Given the description of an element on the screen output the (x, y) to click on. 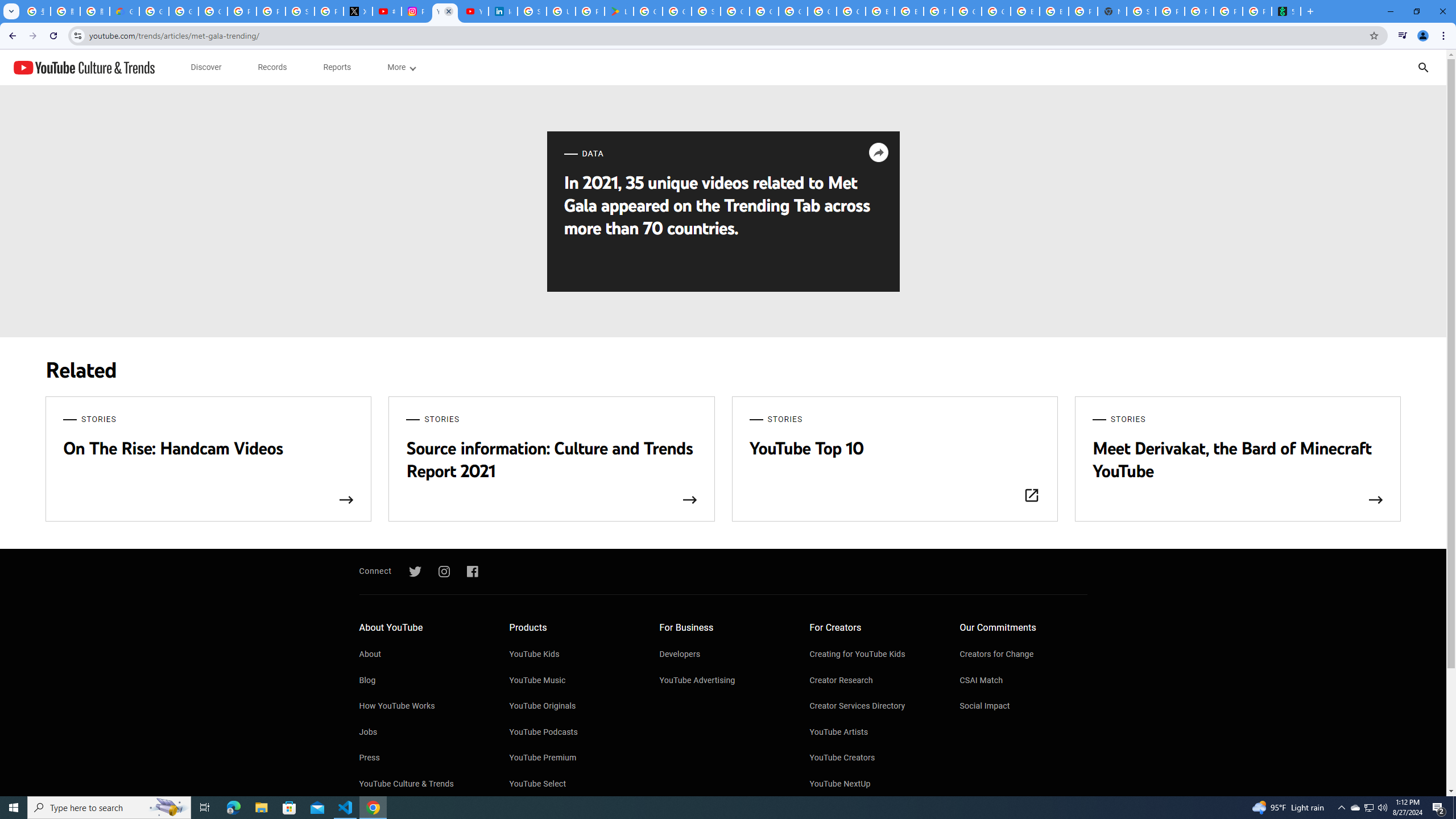
Google Cloud Platform (792, 11)
Google Cloud Platform (996, 11)
X (357, 11)
Sign in - Google Accounts (1140, 11)
Privacy Checkup (1198, 11)
subnav-Discover menupopup (205, 67)
Social Impact (1023, 706)
